Given the description of an element on the screen output the (x, y) to click on. 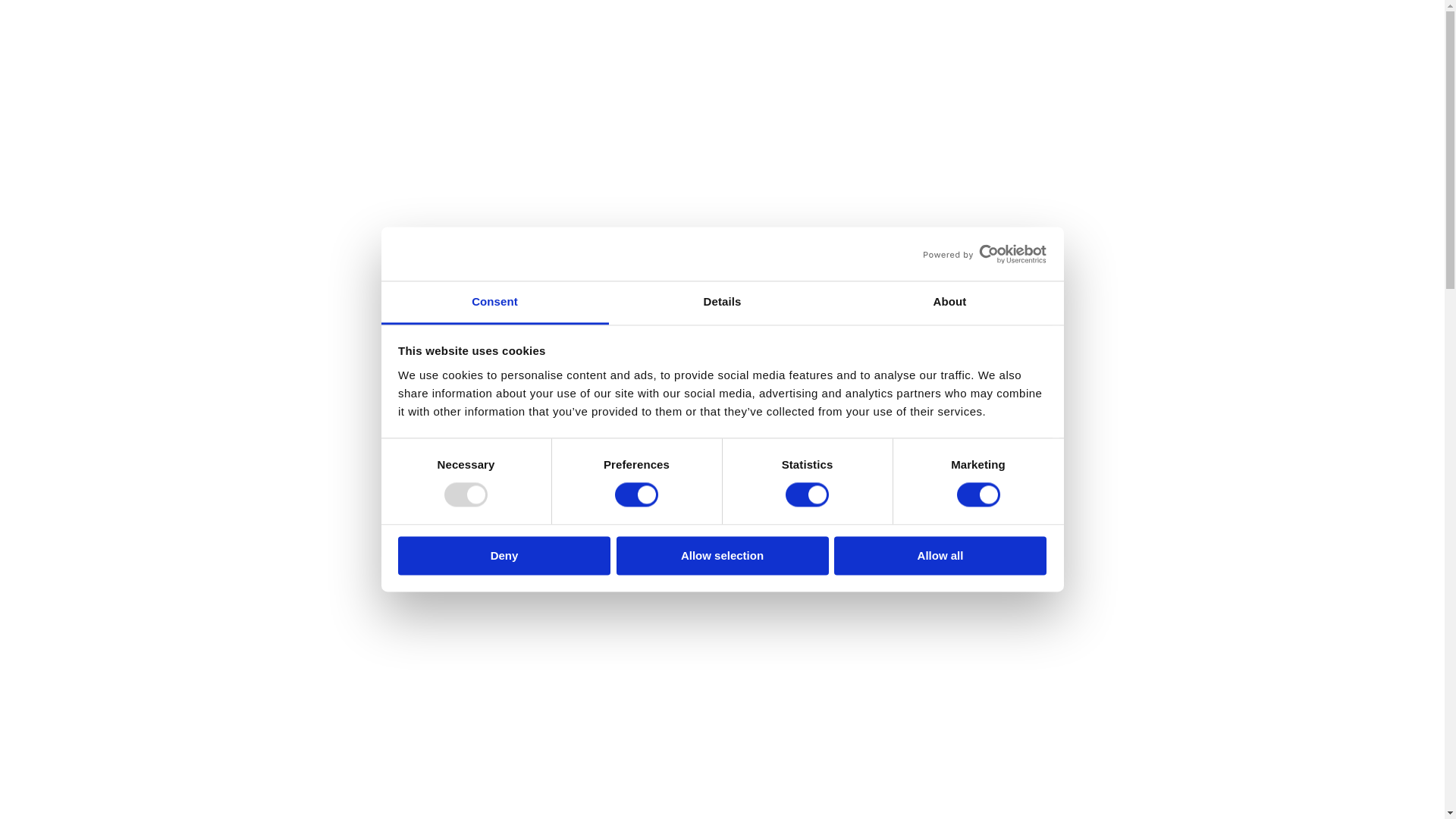
Allow all (940, 555)
Deny (503, 555)
Consent (494, 302)
Details (721, 302)
About (948, 302)
Go! (26, 18)
Allow selection (721, 555)
Search form (934, 62)
